Given the description of an element on the screen output the (x, y) to click on. 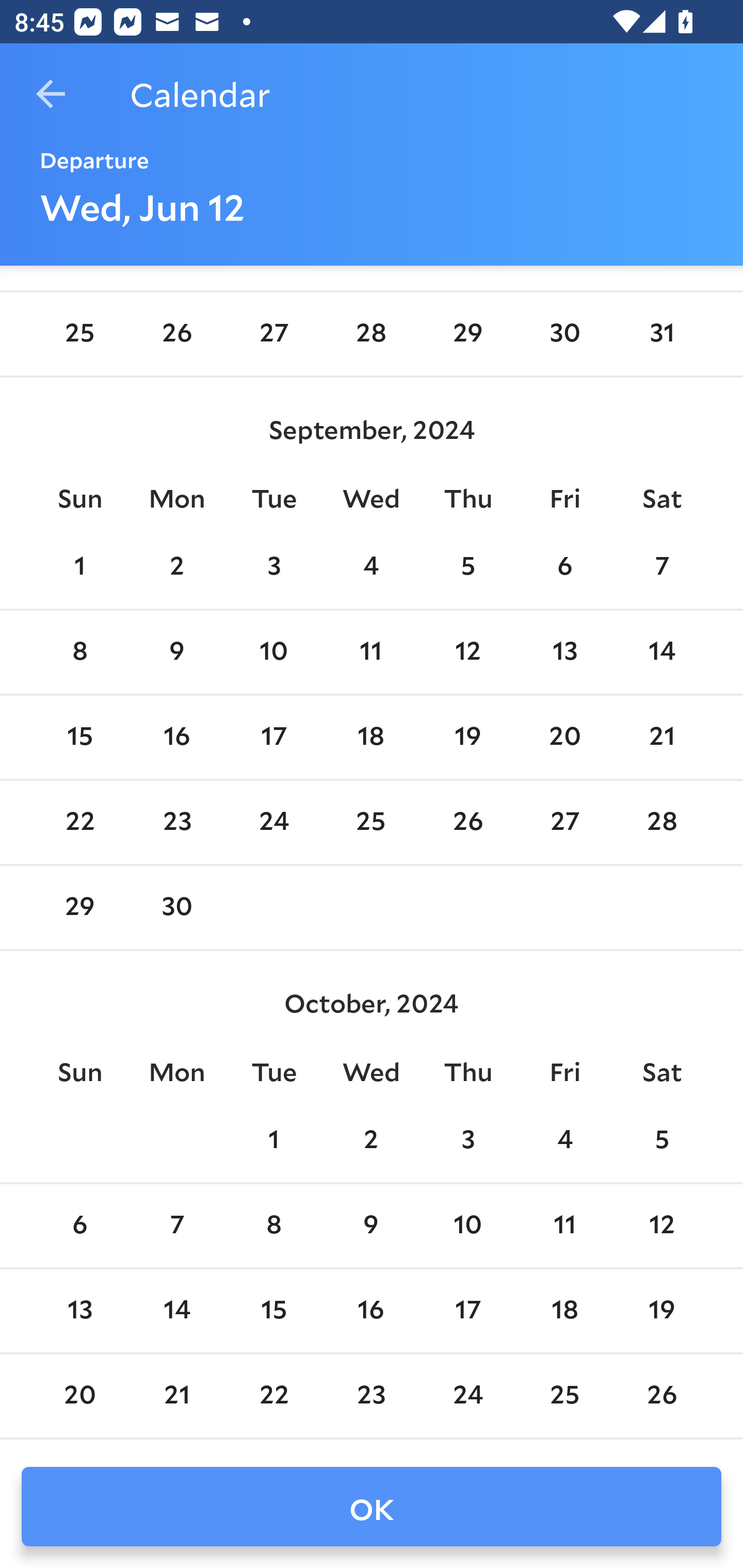
Navigate up (50, 93)
25 (79, 333)
26 (177, 333)
27 (273, 333)
28 (371, 333)
29 (467, 333)
30 (565, 333)
31 (661, 333)
1 (79, 567)
2 (177, 567)
3 (273, 567)
4 (371, 567)
5 (467, 567)
6 (565, 567)
7 (661, 567)
8 (79, 652)
9 (177, 652)
10 (273, 652)
11 (371, 652)
12 (467, 652)
13 (565, 652)
14 (661, 652)
15 (79, 736)
16 (177, 736)
17 (273, 736)
18 (371, 736)
19 (467, 736)
20 (565, 736)
21 (661, 736)
22 (79, 823)
23 (177, 823)
24 (273, 823)
25 (371, 823)
26 (467, 823)
27 (565, 823)
28 (661, 823)
29 (79, 907)
30 (177, 907)
1 (273, 1141)
2 (371, 1141)
3 (467, 1141)
4 (565, 1141)
5 (661, 1141)
6 (79, 1226)
7 (177, 1226)
8 (273, 1226)
9 (371, 1226)
10 (467, 1226)
11 (565, 1226)
12 (661, 1226)
13 (79, 1310)
14 (177, 1310)
15 (273, 1310)
16 (371, 1310)
17 (467, 1310)
18 (565, 1310)
19 (661, 1310)
20 (79, 1395)
21 (177, 1395)
22 (273, 1395)
23 (371, 1395)
24 (467, 1395)
25 (565, 1395)
26 (661, 1395)
OK (371, 1506)
